Given the description of an element on the screen output the (x, y) to click on. 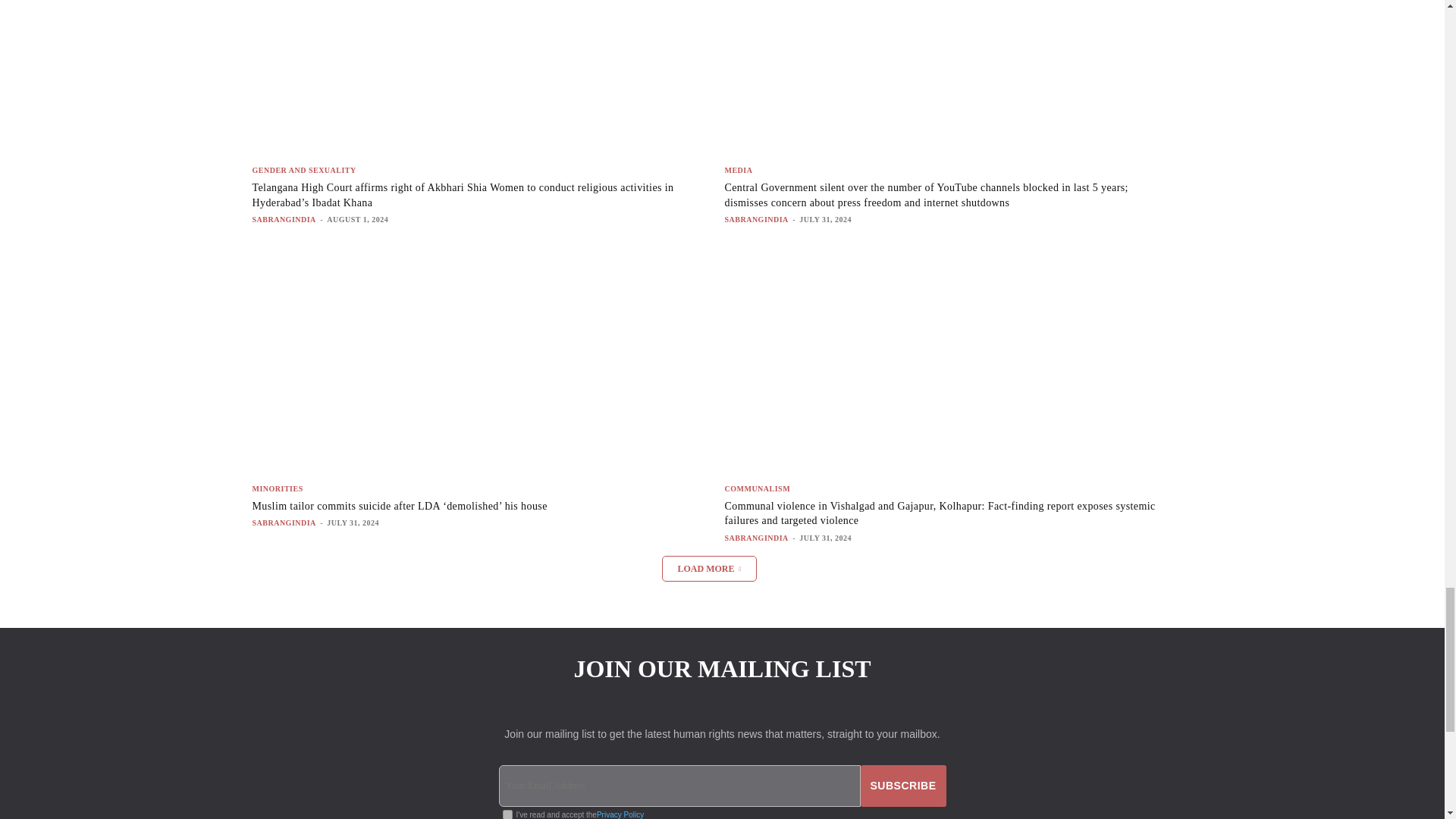
Subscribe (903, 785)
on (507, 812)
